Given the description of an element on the screen output the (x, y) to click on. 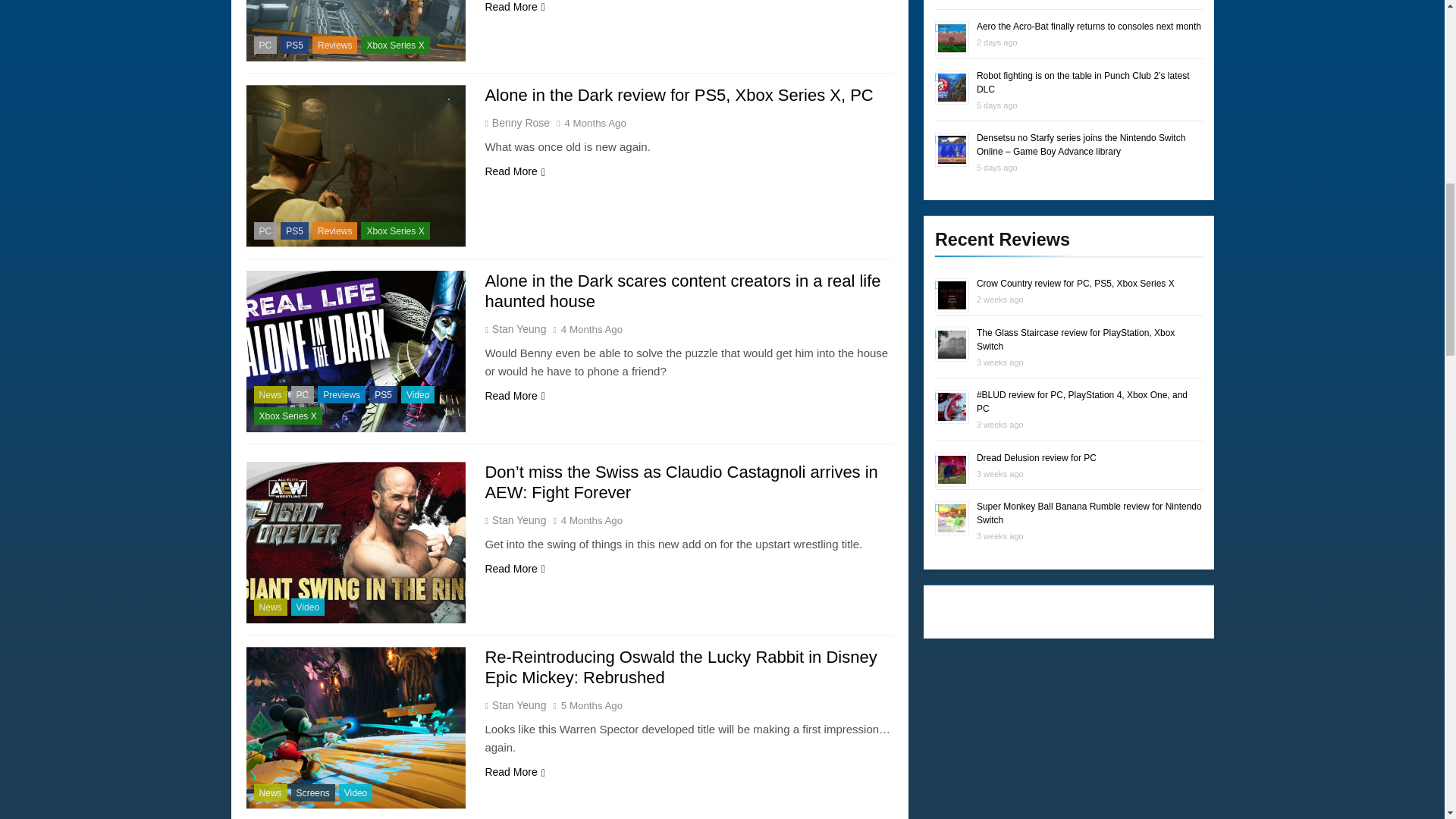
Alone in the Dark review for PS5, Xbox Series X, PC (355, 165)
Alone in the Dark review for PS5, Xbox Series X, PC (678, 94)
